Given the description of an element on the screen output the (x, y) to click on. 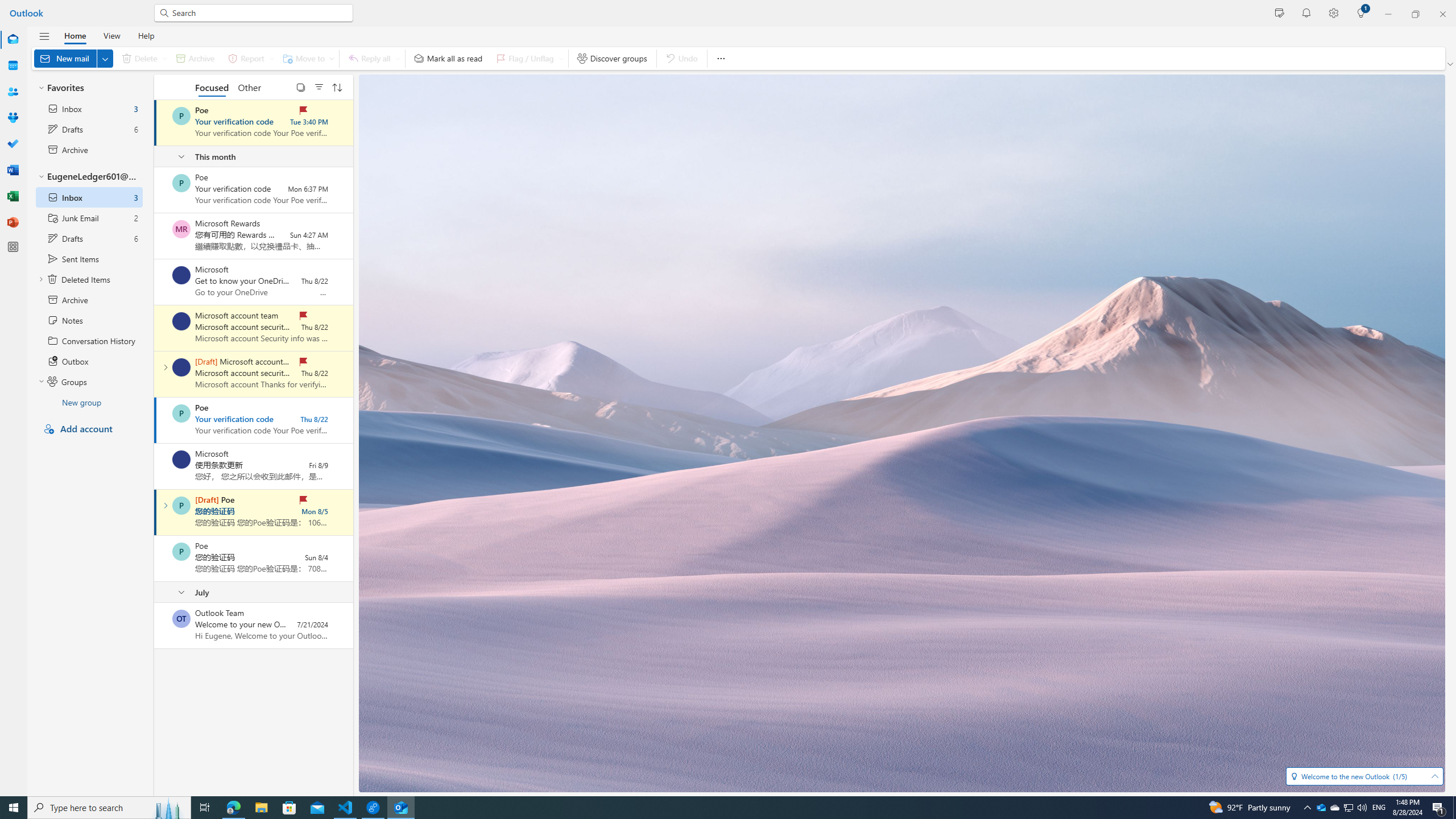
View (111, 35)
Mail (12, 39)
To Do (12, 143)
Archive (194, 58)
Search for email, meetings, files and more. (258, 12)
Microsoft account team (180, 367)
Sorted: By Date (336, 86)
To Do (12, 143)
Mark as unread (154, 625)
System (6, 6)
Groups (12, 117)
Ribbon display options (1450, 63)
Microsoft (180, 459)
